Given the description of an element on the screen output the (x, y) to click on. 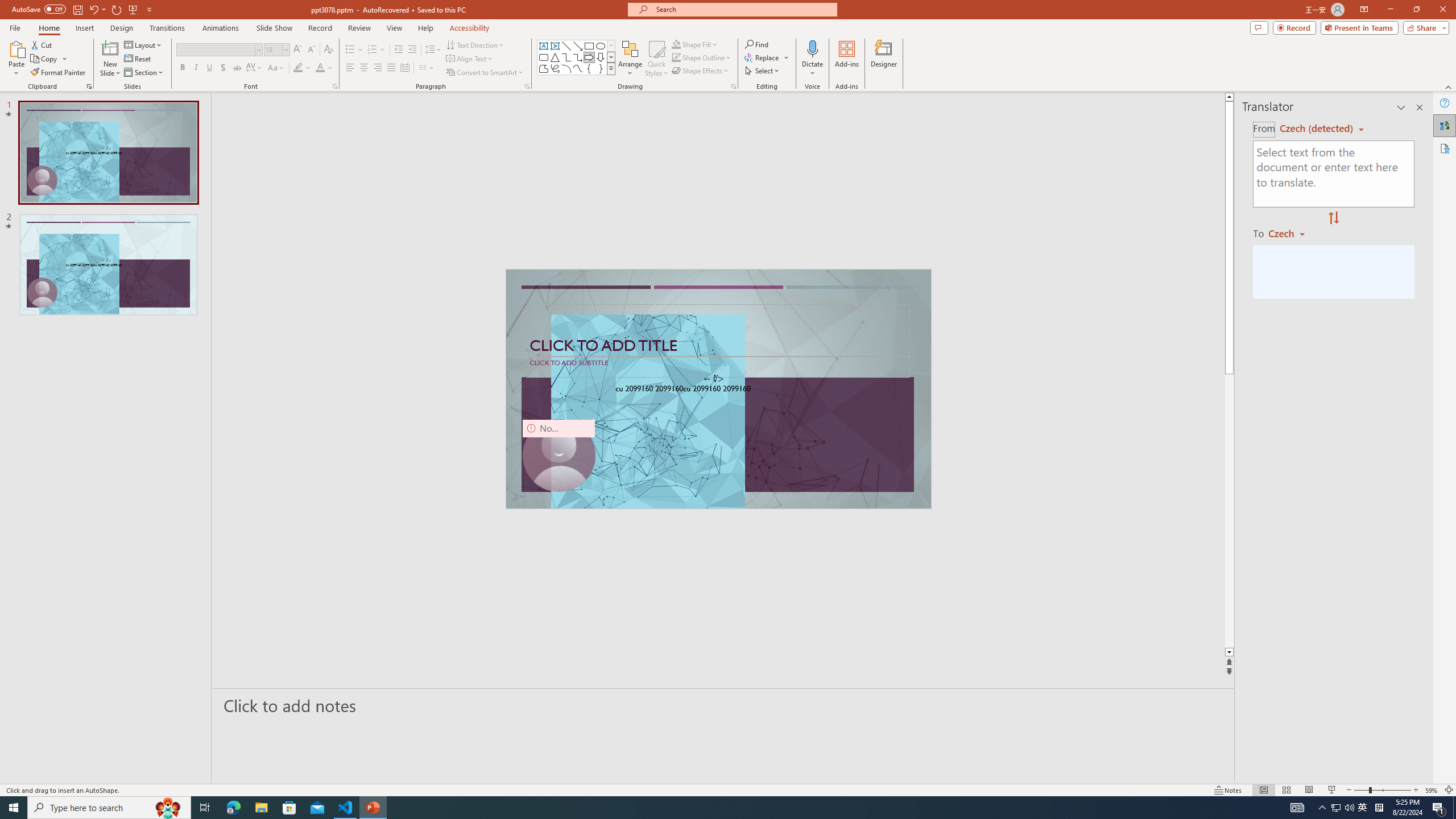
Align Text (470, 58)
Shape Outline (701, 56)
Increase Indent (412, 49)
Camera 9, No camera detected. (558, 455)
Czech (1291, 232)
Convert to SmartArt (485, 72)
